Given the description of an element on the screen output the (x, y) to click on. 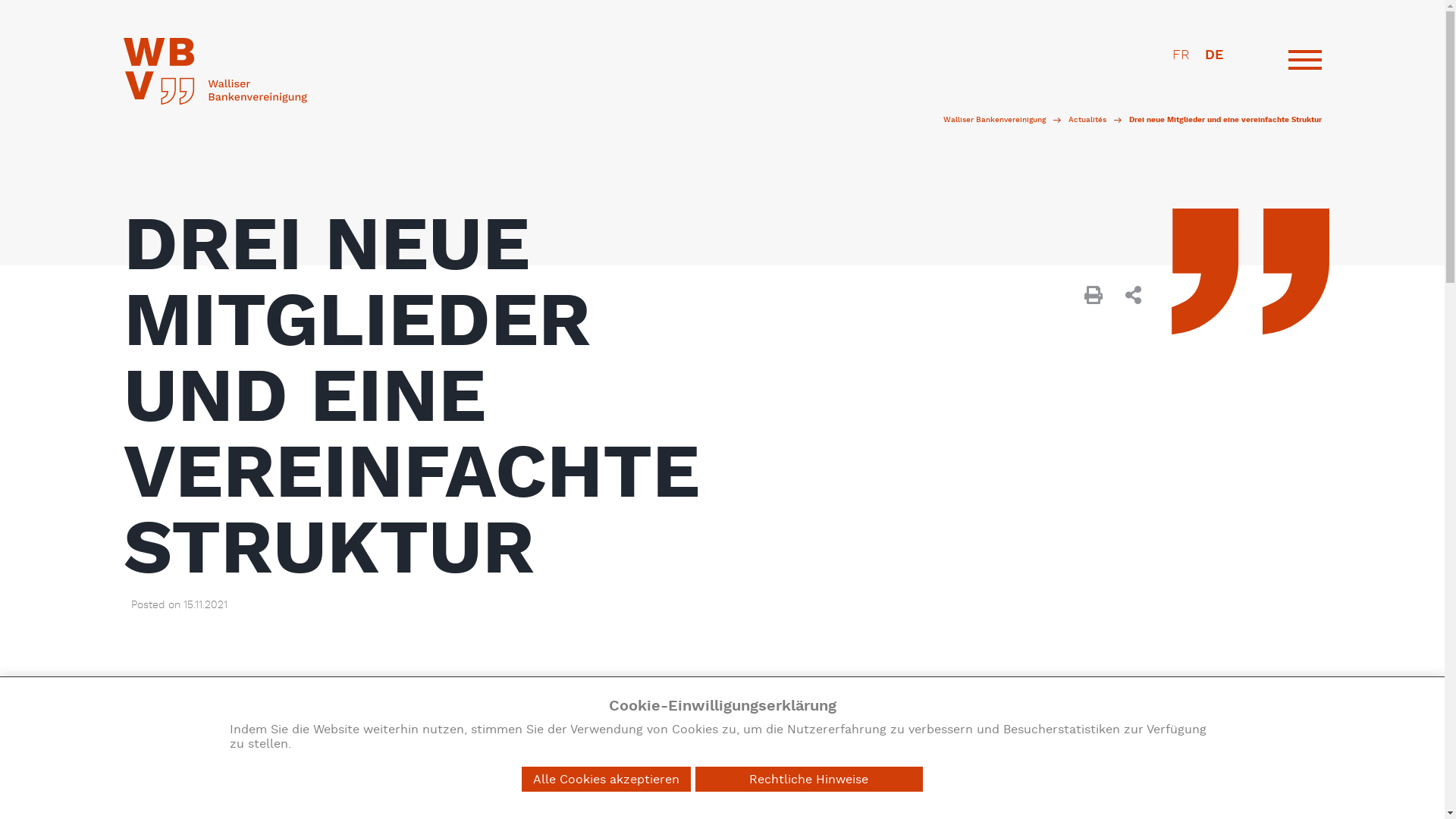
Print "Drei neue Mitglieder und eine vereinfachte Struktur" Element type: hover (1093, 296)
Alle Cookies akzeptieren Element type: text (605, 778)
FR Element type: text (1180, 55)
DE Element type: text (1213, 55)
Walliser Bankenvereinigung Element type: text (994, 119)
Rechtliche Hinweise Element type: text (808, 778)
